Given the description of an element on the screen output the (x, y) to click on. 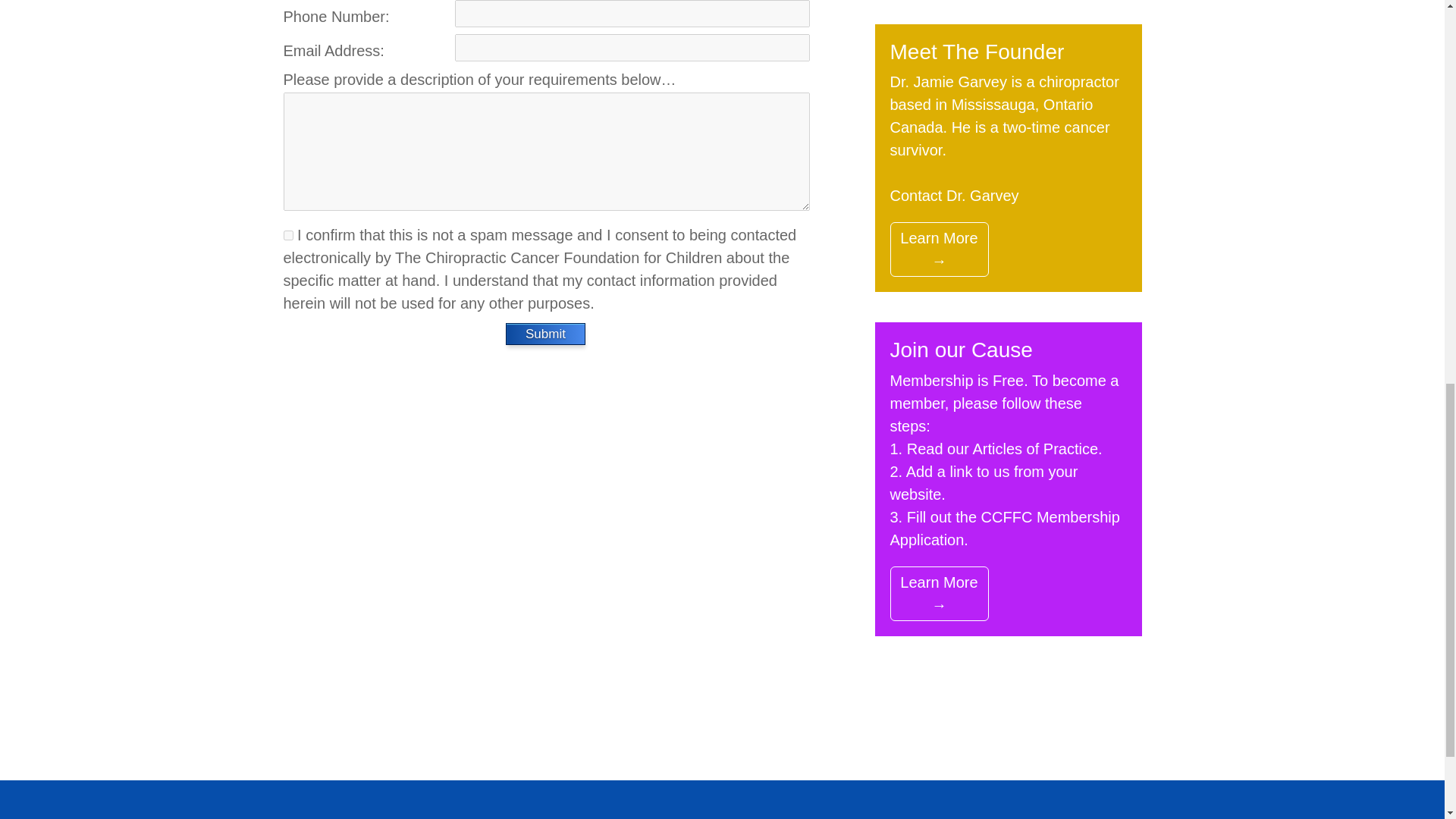
Click here to become a Member (1004, 527)
Click here to Contact Us (954, 195)
on (288, 235)
Articles of Practice (1034, 448)
Click here for Articles of Practice (1034, 448)
Click here to submit the form (545, 333)
Contact Dr. Garvey (954, 195)
Please enter your phone number (631, 13)
Submit (545, 333)
CCFFC Membership Application (1004, 527)
Please enter your email address (631, 47)
